Given the description of an element on the screen output the (x, y) to click on. 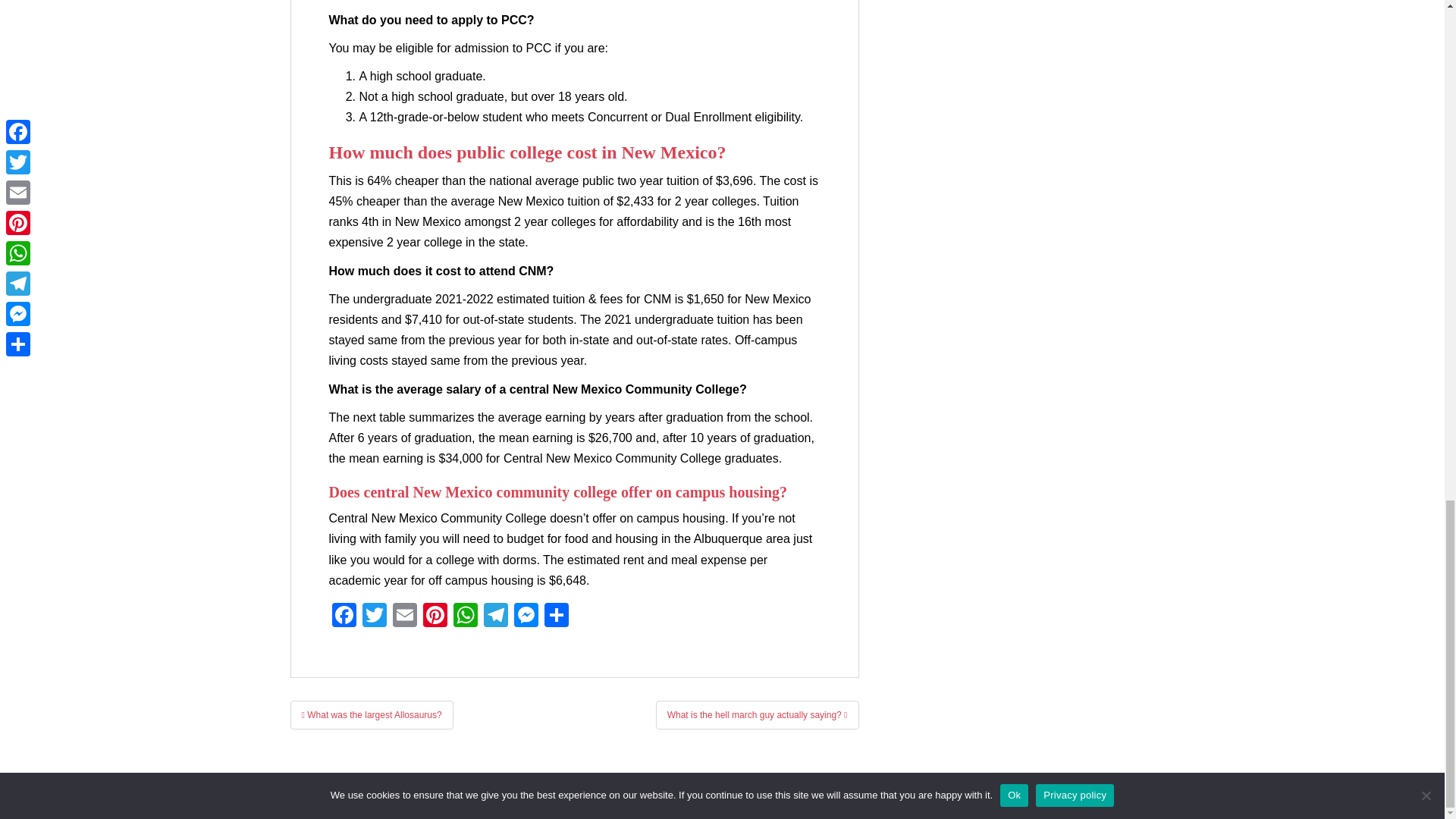
Pinterest (434, 616)
Messenger (526, 616)
Facebook (344, 616)
Pinterest (434, 616)
WhatsApp (464, 616)
Share (556, 616)
Twitter (374, 616)
Email (405, 616)
Twitter (374, 616)
What was the largest Allosaurus? (370, 715)
Telegram (495, 616)
Messenger (526, 616)
Facebook (344, 616)
Email (405, 616)
WhatsApp (464, 616)
